Given the description of an element on the screen output the (x, y) to click on. 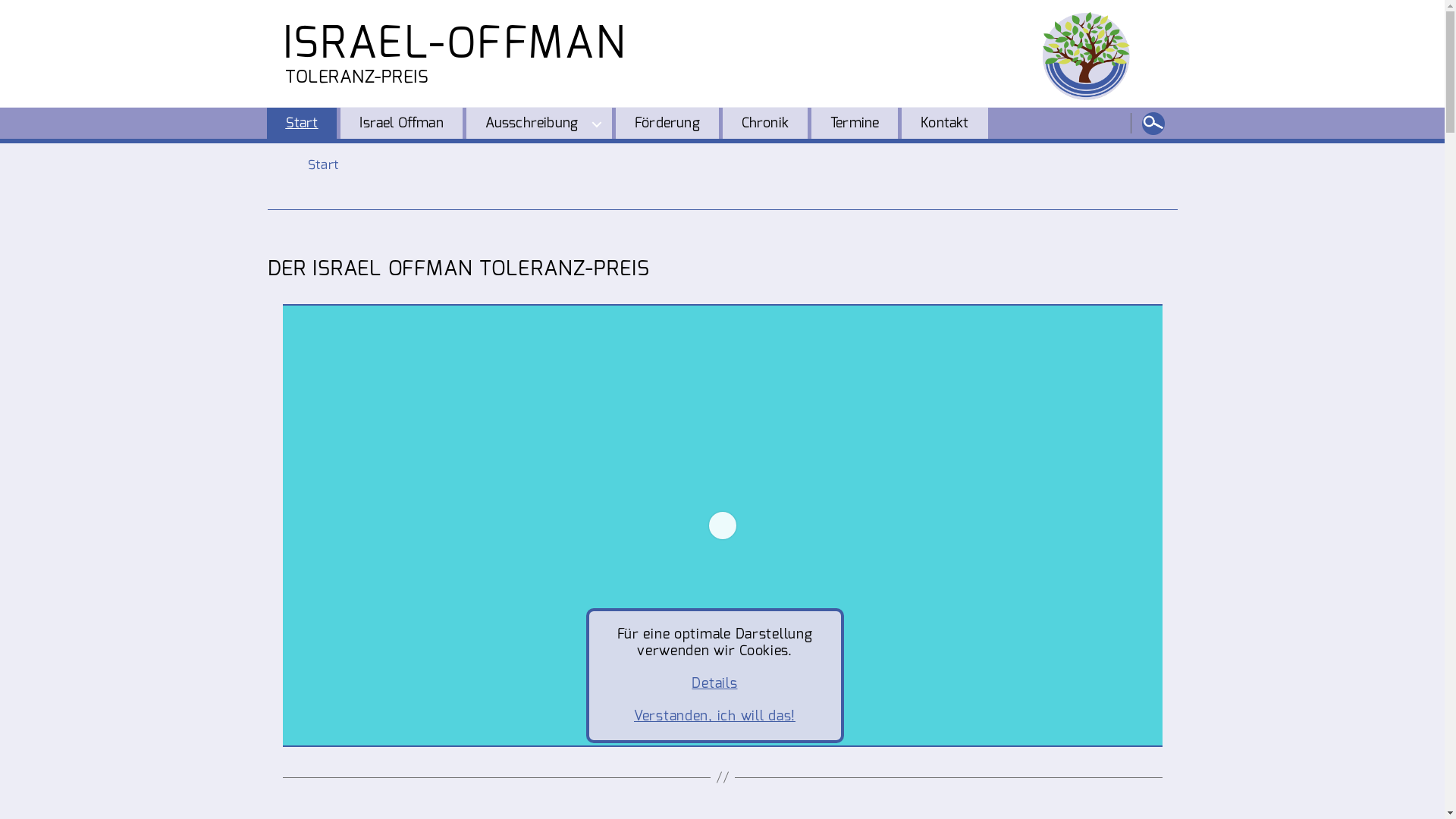
Ausschreibung Element type: text (539, 123)
Termine Element type: text (854, 123)
Kontakt Element type: text (944, 123)
Verstanden, ich will das! Element type: text (714, 715)
Details Element type: text (714, 683)
Start Element type: text (323, 164)
Israel Offman Element type: text (400, 123)
Chronik Element type: text (764, 123)
Start Element type: text (301, 123)
